Given the description of an element on the screen output the (x, y) to click on. 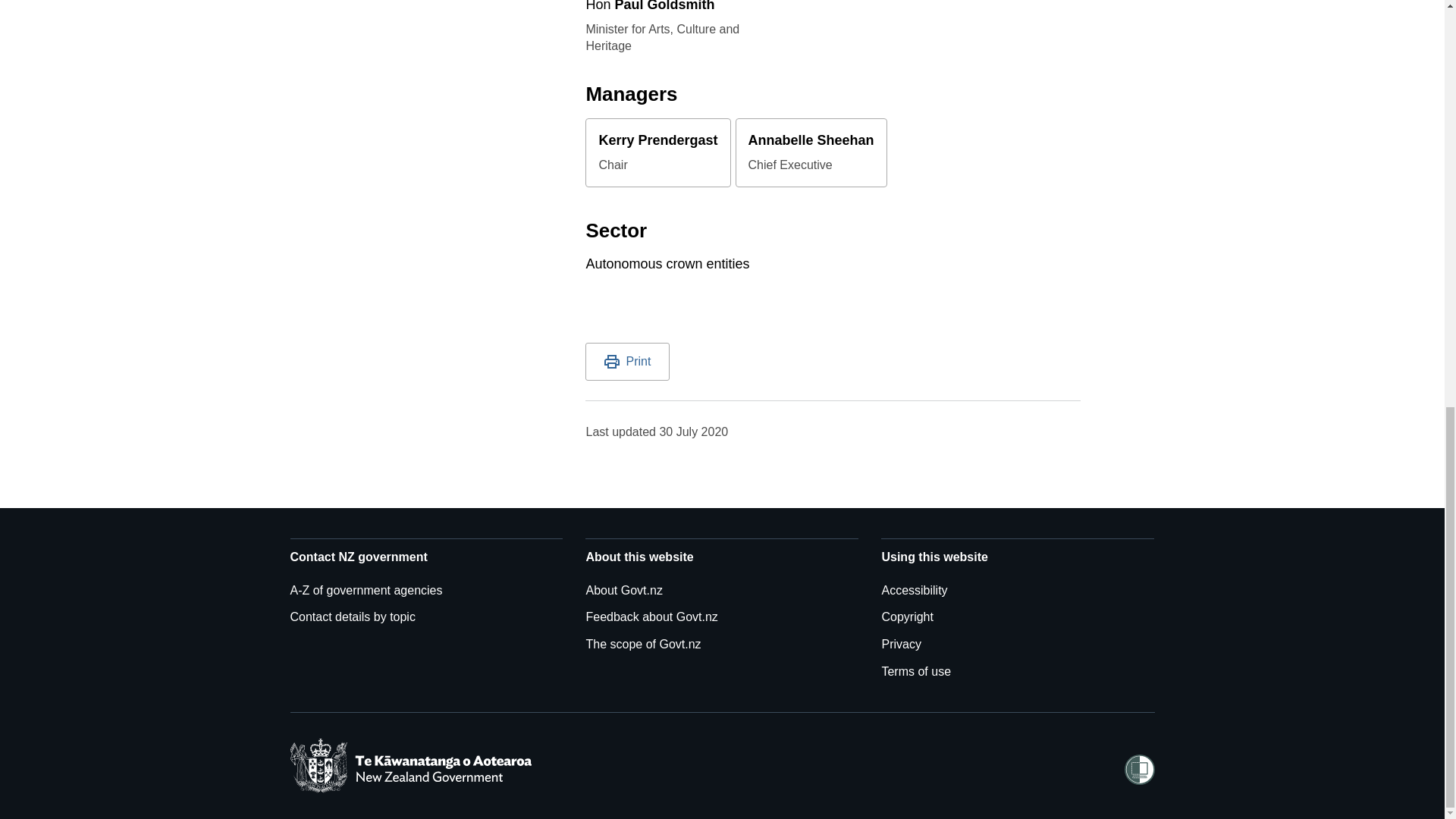
Copyright (906, 616)
A-Z of government agencies (365, 590)
The scope of Govt.nz (642, 644)
About Govt.nz (623, 590)
Privacy (900, 644)
Print (627, 361)
Accessibility (913, 590)
Feedback about Govt.nz (651, 616)
Contact details by topic (351, 616)
Terms of use (915, 671)
